Given the description of an element on the screen output the (x, y) to click on. 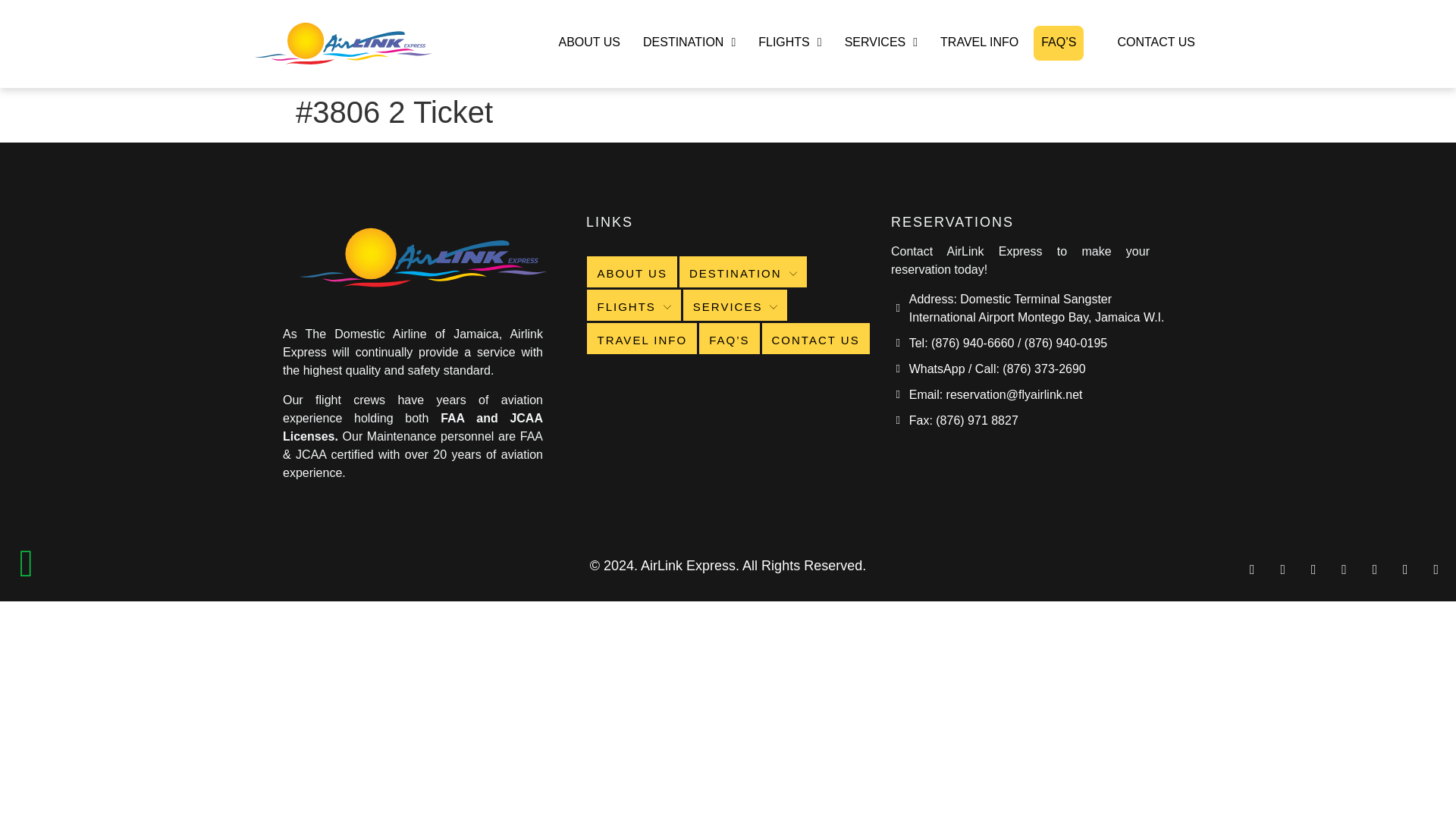
FLIGHTS (632, 305)
SERVICES (880, 42)
FLIGHTS (789, 42)
CONTACT US (1155, 42)
DESTINATION (688, 42)
ABOUT US (631, 271)
SERVICES (734, 305)
DESTINATION (742, 271)
TRAVEL INFO (979, 42)
ABOUT US (588, 42)
